Given the description of an element on the screen output the (x, y) to click on. 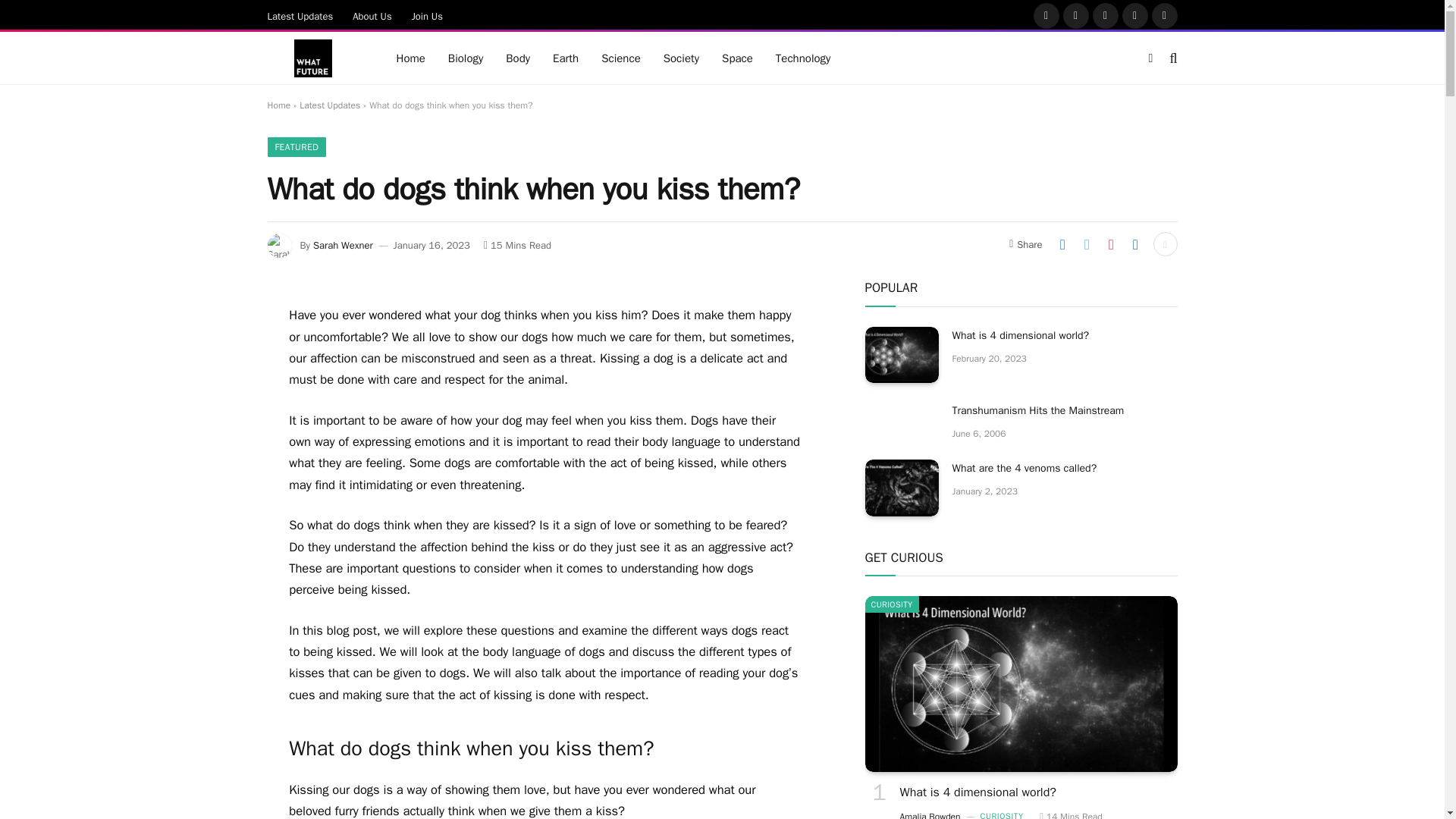
Pinterest (1135, 15)
Facebook (1046, 15)
Share on Pinterest (1110, 243)
Share on Facebook (1062, 243)
Share on Twitter (1086, 243)
Body (518, 57)
Instagram (1105, 15)
Biology (465, 57)
Society (681, 57)
Latest Updates (300, 15)
Earth (565, 57)
Home (410, 57)
Posts by Sarah Wexner (342, 245)
Show More Social Sharing (1164, 243)
Vimeo (1164, 15)
